Given the description of an element on the screen output the (x, y) to click on. 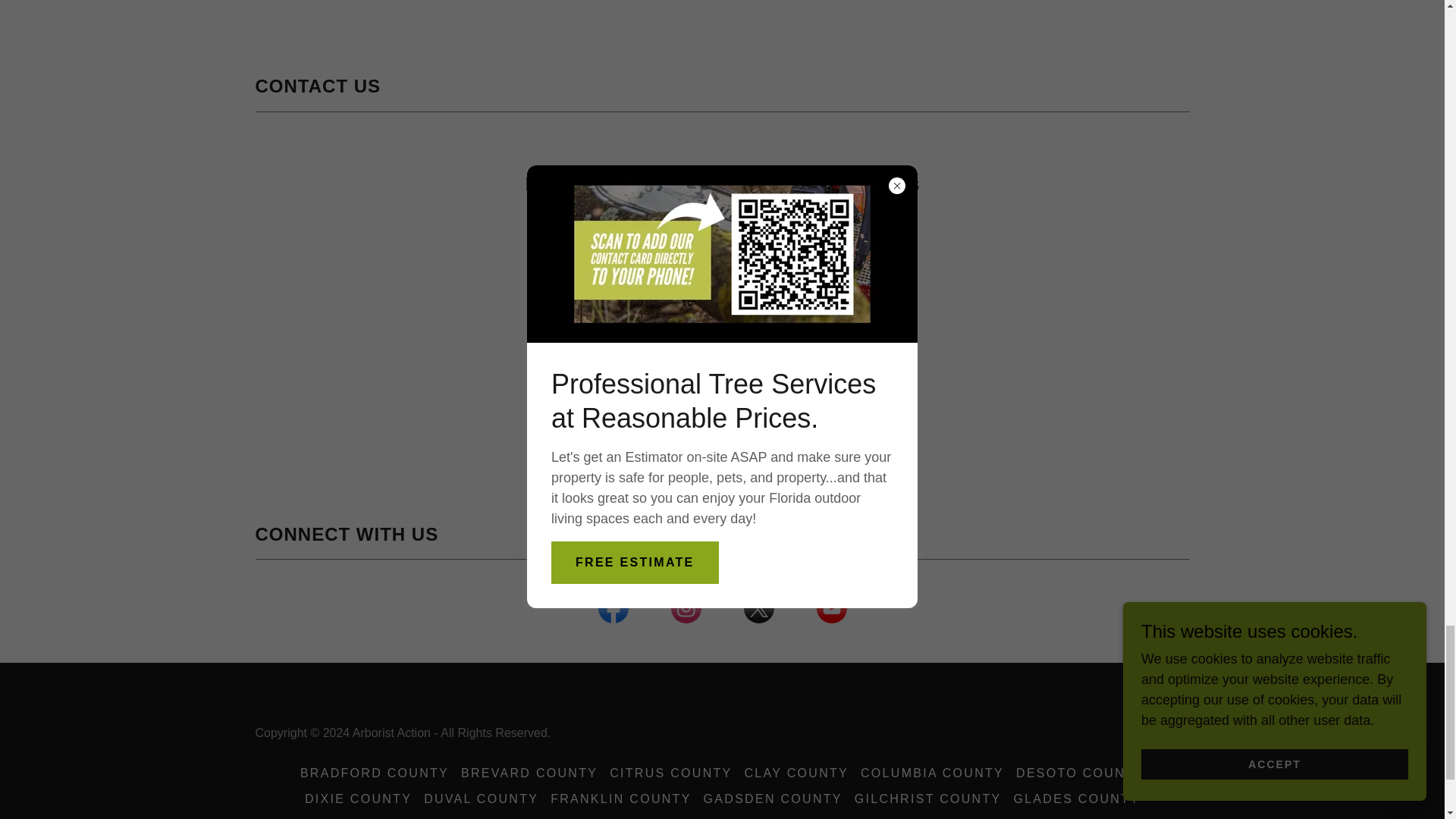
386-259-8182 (721, 335)
